Given the description of an element on the screen output the (x, y) to click on. 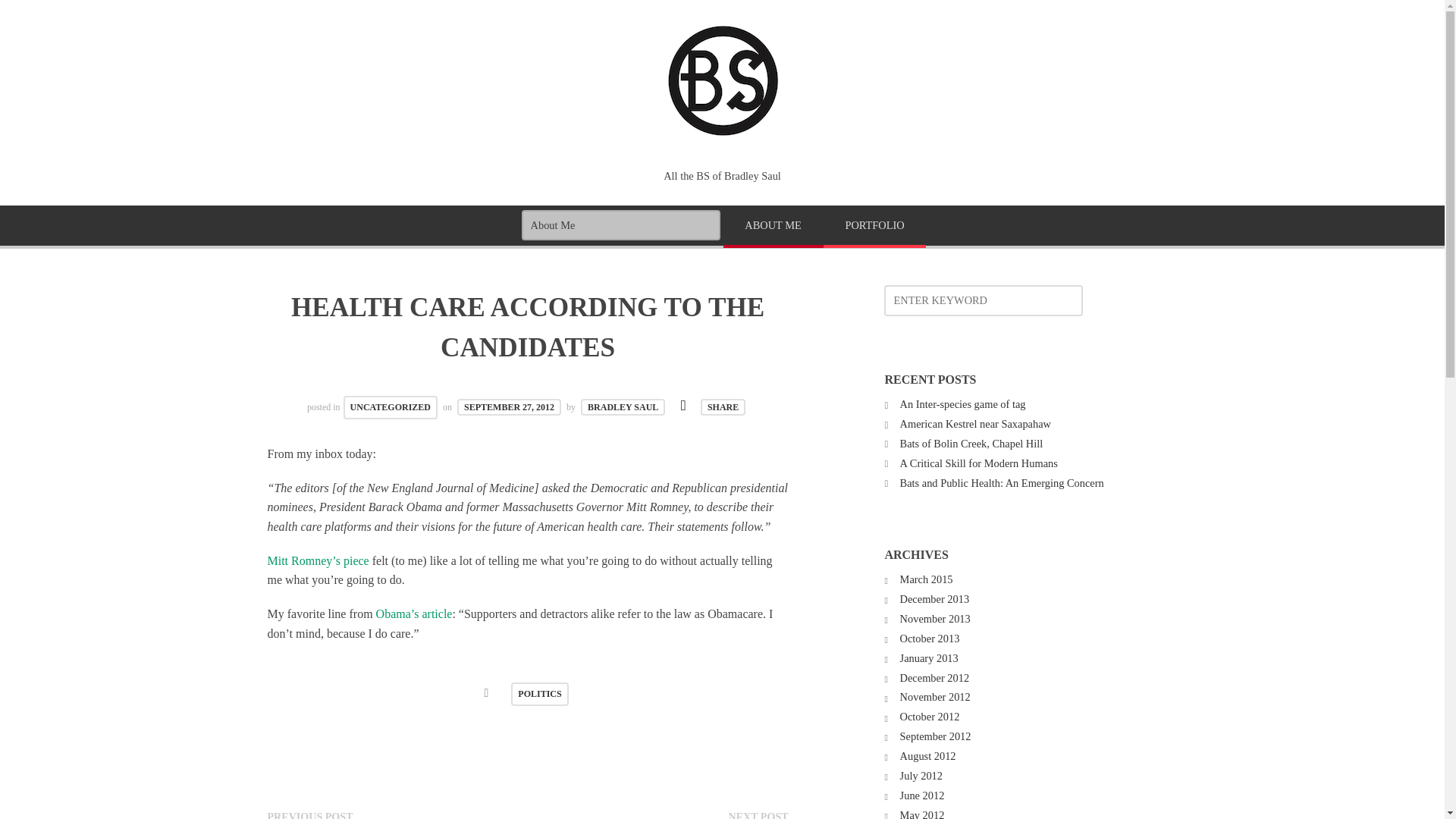
November 2013 (935, 618)
November 2012 (935, 696)
August 2012 (927, 756)
UNCATEGORIZED (390, 407)
March 2015 (926, 579)
A Critical Skill for Modern Humans (978, 463)
Bats of Bolin Creek, Chapel Hill (971, 443)
January 2013 (928, 657)
View all posts by Bradley Saul (622, 406)
July 2012 (920, 775)
SHARE (722, 406)
An Inter-species game of tag (962, 404)
ABOUT ME (773, 226)
December 2013 (934, 598)
December 2012 (934, 677)
